Given the description of an element on the screen output the (x, y) to click on. 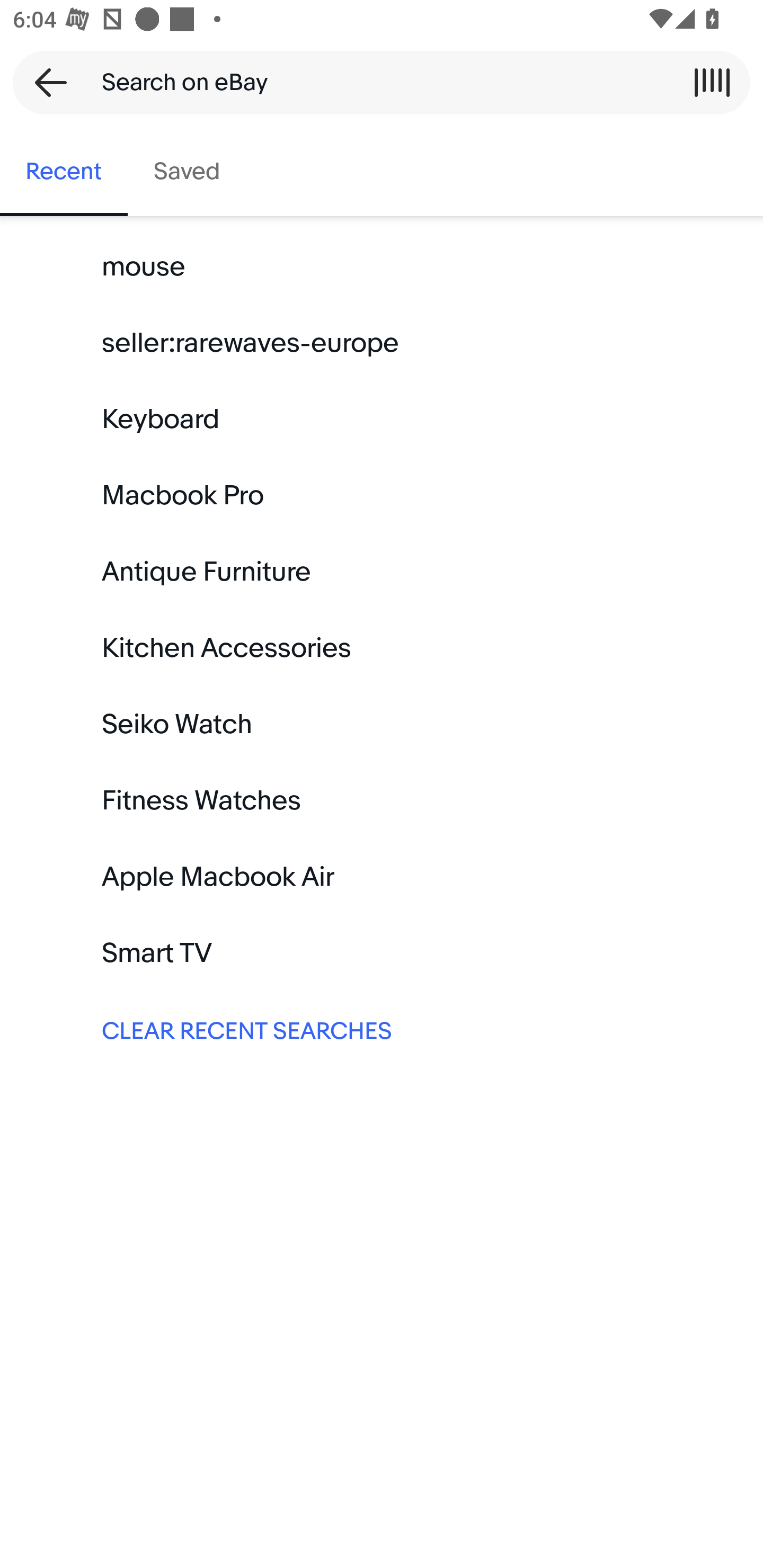
Back (44, 82)
Scan a barcode (711, 82)
Search on eBay (375, 82)
Saved, tab 2 of 2 Saved (186, 171)
mouse Keyword search mouse: (381, 266)
Keyboard Keyword search Keyboard: (381, 419)
Macbook Pro Keyword search Macbook Pro: (381, 495)
Seiko Watch Keyword search Seiko Watch: (381, 724)
Fitness Watches Keyword search Fitness Watches: (381, 800)
Smart TV Keyword search Smart TV: (381, 952)
CLEAR RECENT SEARCHES (381, 1028)
